Given the description of an element on the screen output the (x, y) to click on. 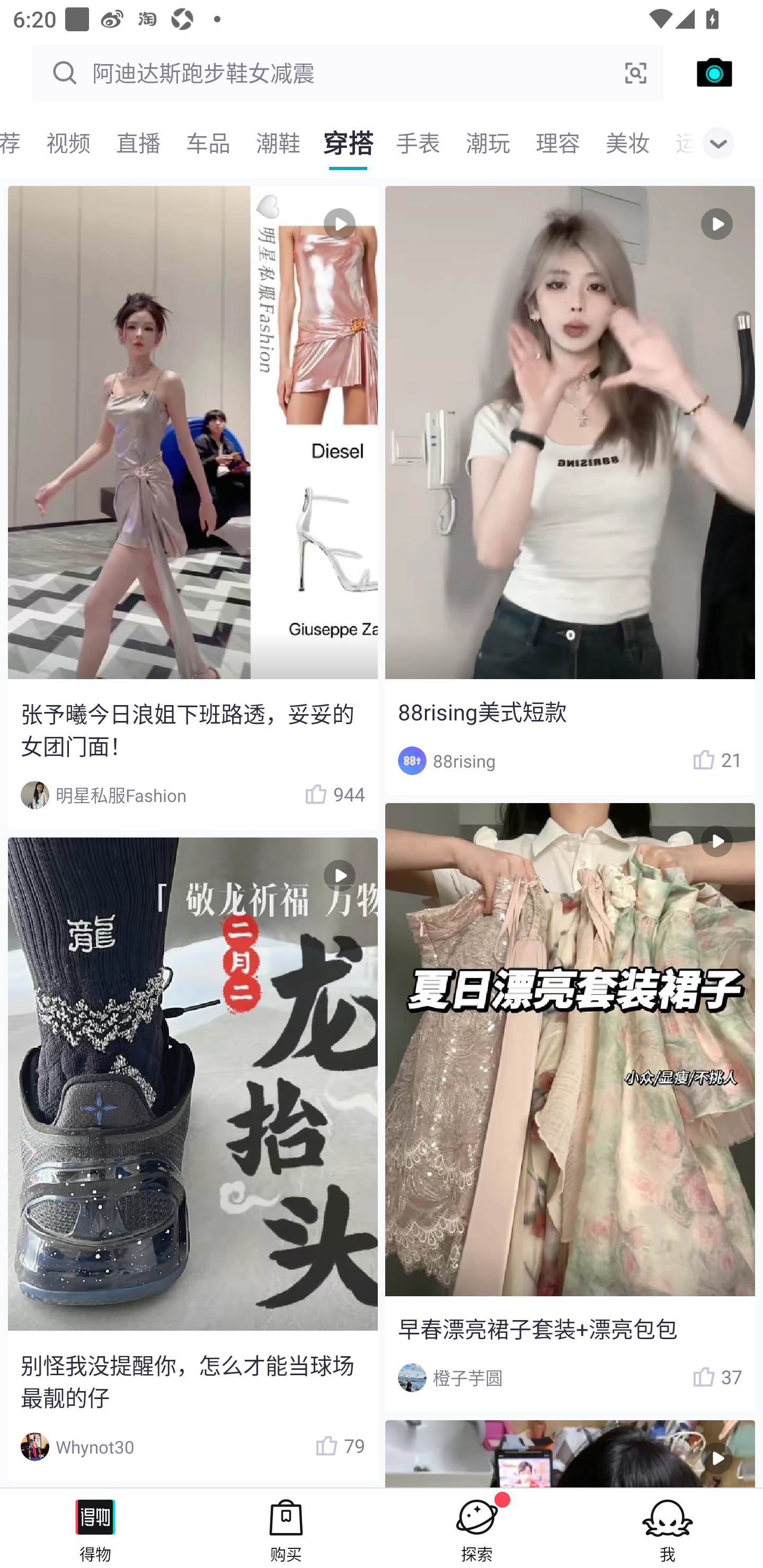
阿迪达斯跑步鞋女减震 (348, 72)
视频 (68, 143)
直播 (138, 143)
车品 (208, 143)
潮鞋 (277, 143)
穿搭 (347, 143)
手表 (418, 143)
潮玩 (487, 143)
理容 (557, 143)
美妆 (627, 143)
张予曦今日浪姐下班路透，妥妥的女团门面！ 明星私服Fashion 944 (192, 507)
88rising美式短款 88rising 21 (570, 490)
早春漂亮裙子套装+漂亮包包 橙子芋圆 37 (570, 1107)
别怪我没提醒你，怎么才能当球场最靓的仔 Whynot30 79 (192, 1159)
得物 (95, 1528)
购买 (285, 1528)
探索 (476, 1528)
我 (667, 1528)
